Given the description of an element on the screen output the (x, y) to click on. 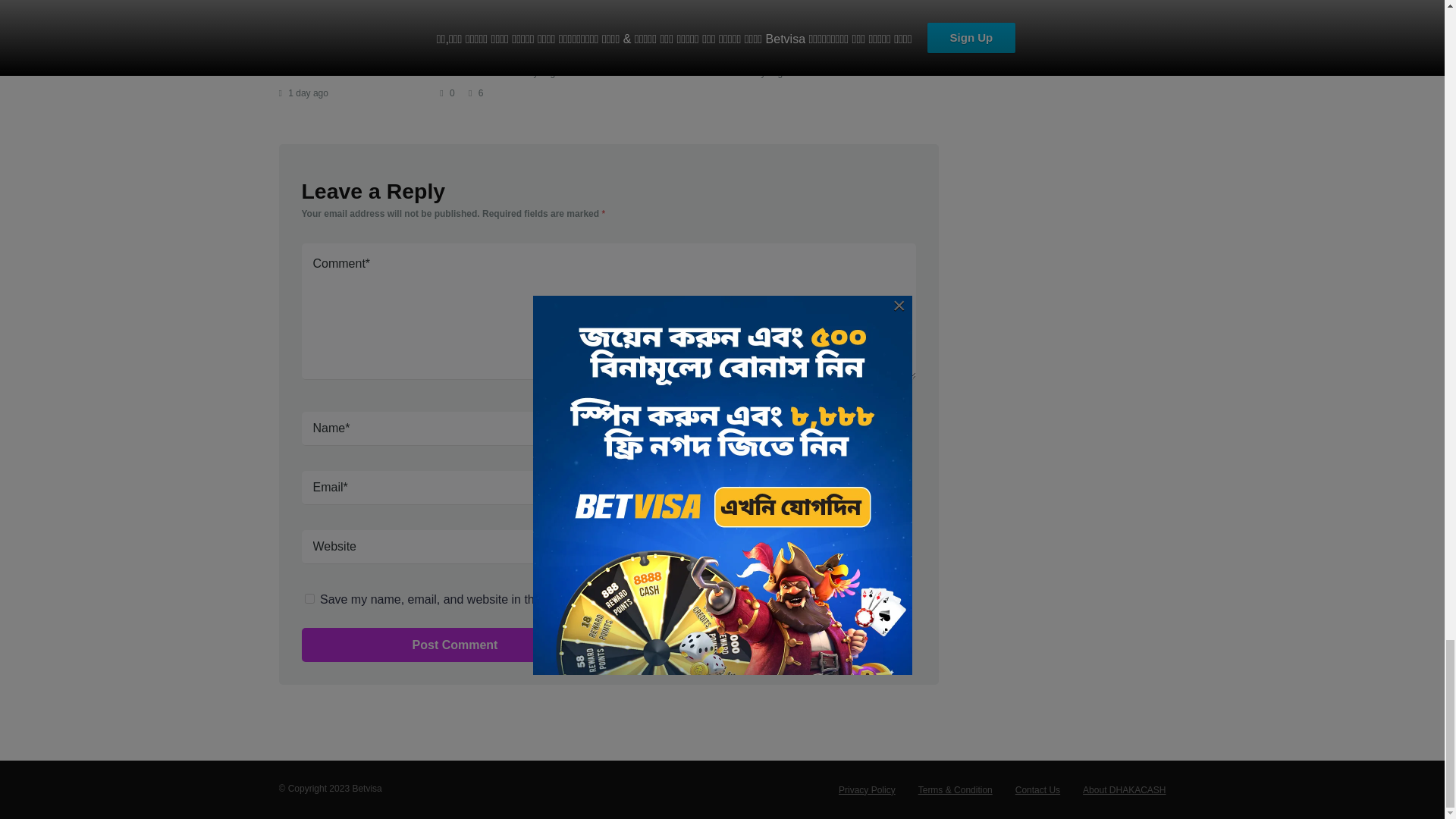
Post Comment (454, 644)
yes (309, 598)
